Given the description of an element on the screen output the (x, y) to click on. 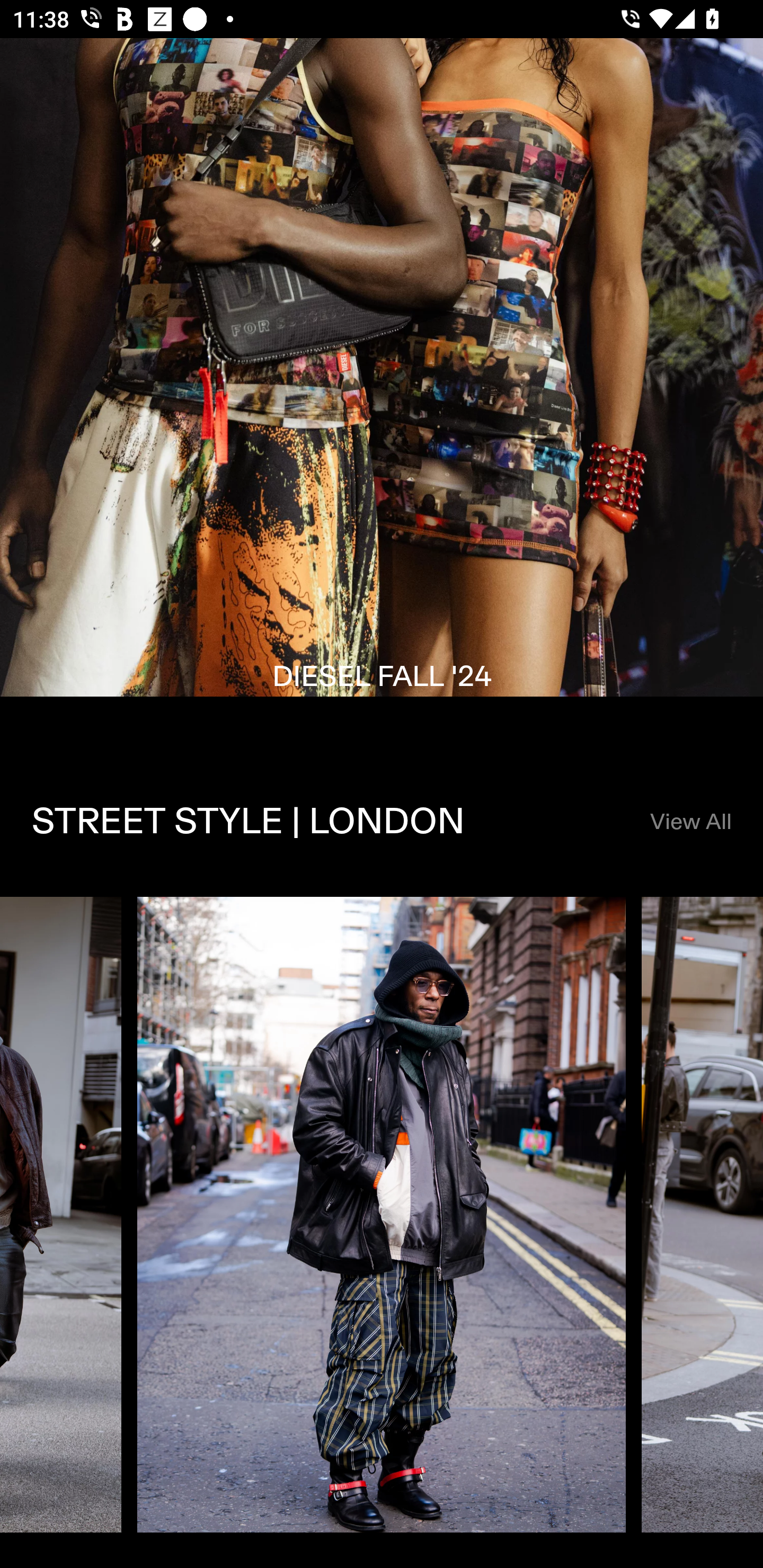
FIRST LOOKS DIESEL FALL '24 (381, 392)
View All (690, 822)
